Given the description of an element on the screen output the (x, y) to click on. 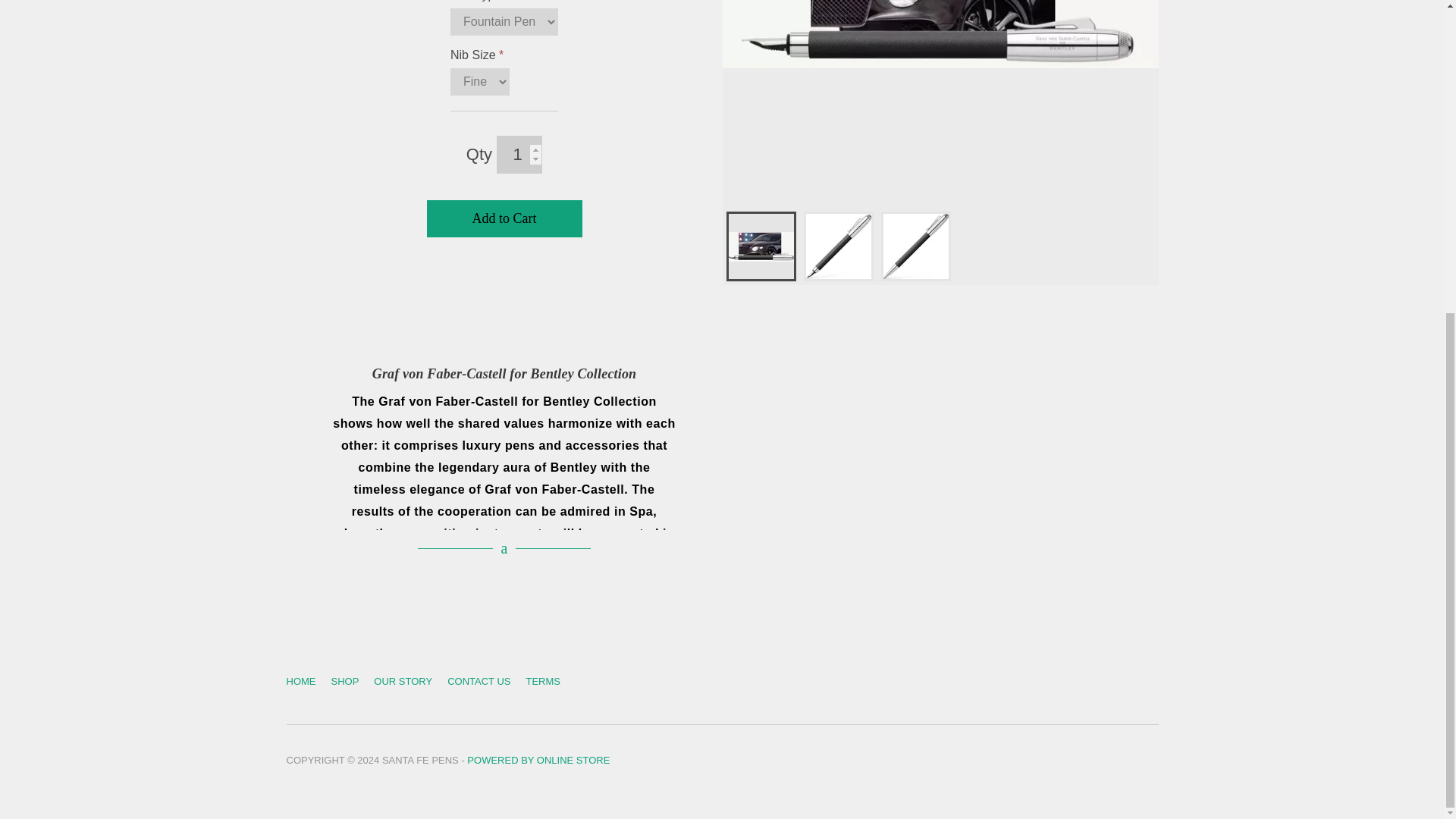
Add to Cart (503, 218)
1 (518, 154)
